Given the description of an element on the screen output the (x, y) to click on. 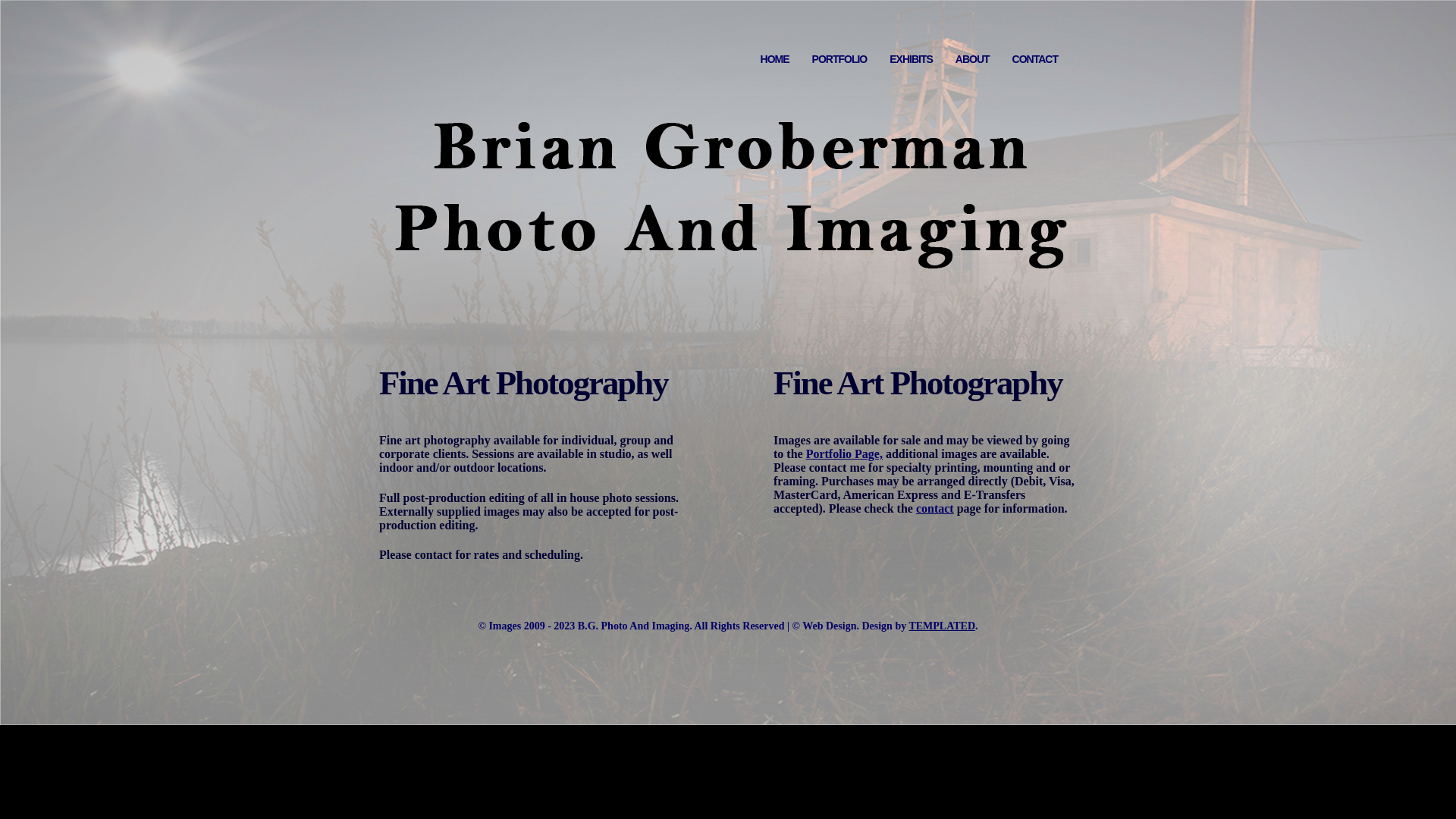
TEMPLATED Element type: text (941, 625)
contact Element type: text (934, 508)
ABOUT Element type: text (972, 60)
CONTACT Element type: text (1035, 60)
EXHIBITS Element type: text (911, 60)
Please contact for rates and scheduling. Element type: text (481, 554)
HOME Element type: text (774, 60)
PORTFOLIO Element type: text (839, 60)
Portfolio Page, Element type: text (844, 453)
